Given the description of an element on the screen output the (x, y) to click on. 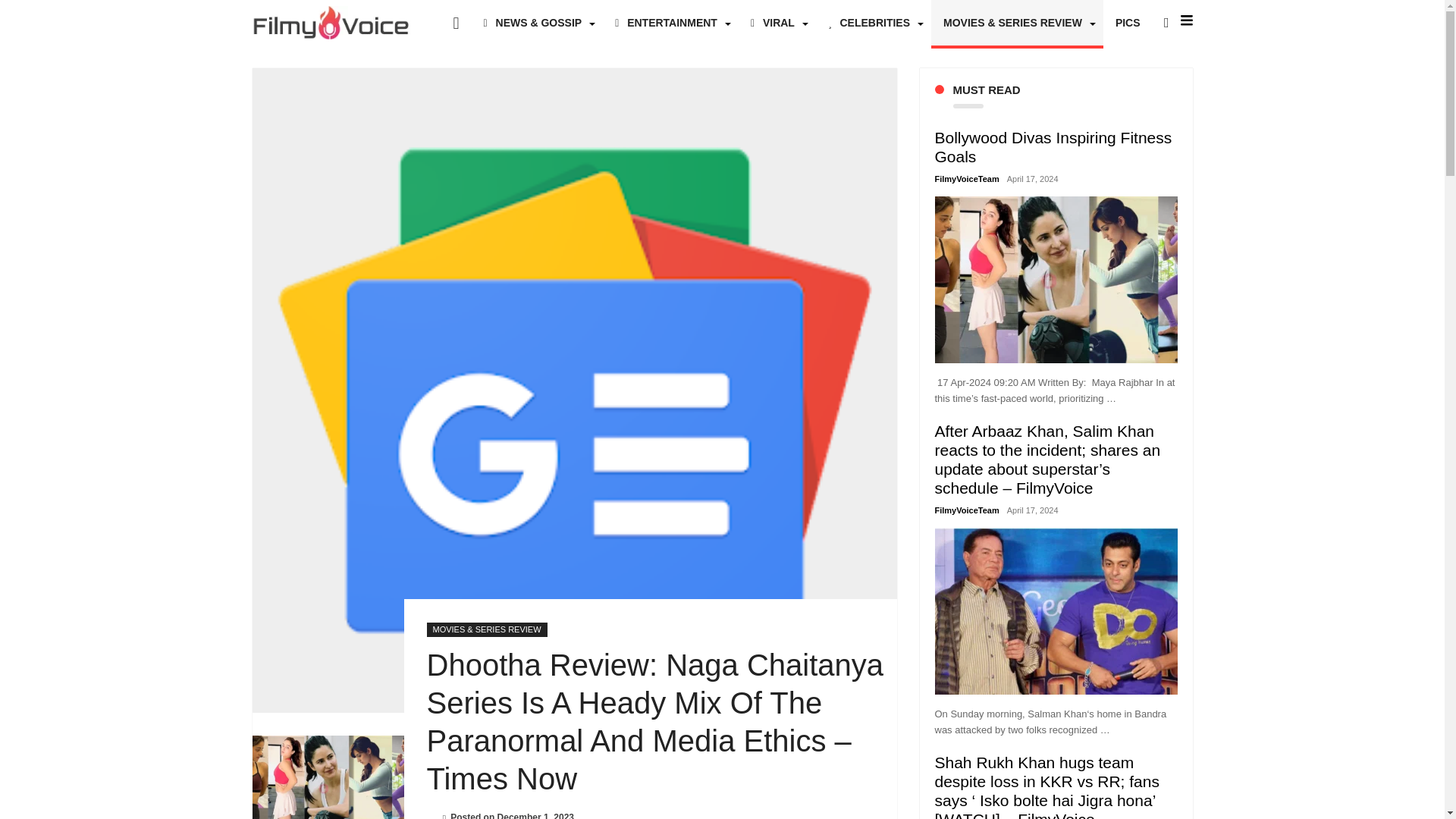
ENTERTAINMENT (670, 22)
CELEBRITIES (873, 22)
VIRAL (776, 22)
